Given the description of an element on the screen output the (x, y) to click on. 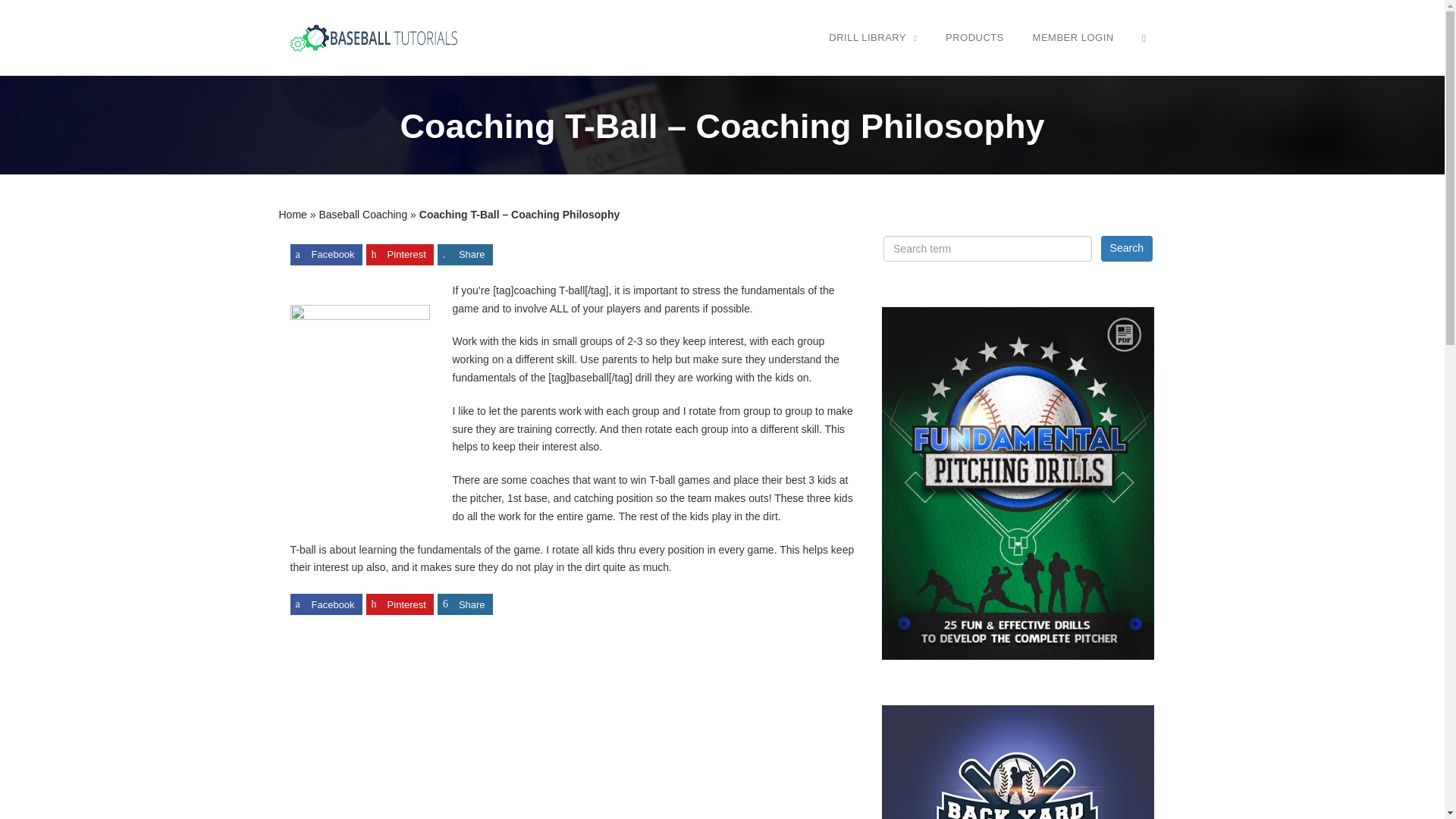
DRILL LIBRARY (872, 37)
Search (1126, 248)
Baseball Tutorials (373, 37)
Pinterest (399, 254)
PRODUCTS (974, 37)
OPEN SEARCH FORM (1144, 37)
Baseball Coaching (362, 214)
Facebook (325, 254)
Home (293, 214)
Share (465, 254)
MEMBER LOGIN (1073, 37)
